Given the description of an element on the screen output the (x, y) to click on. 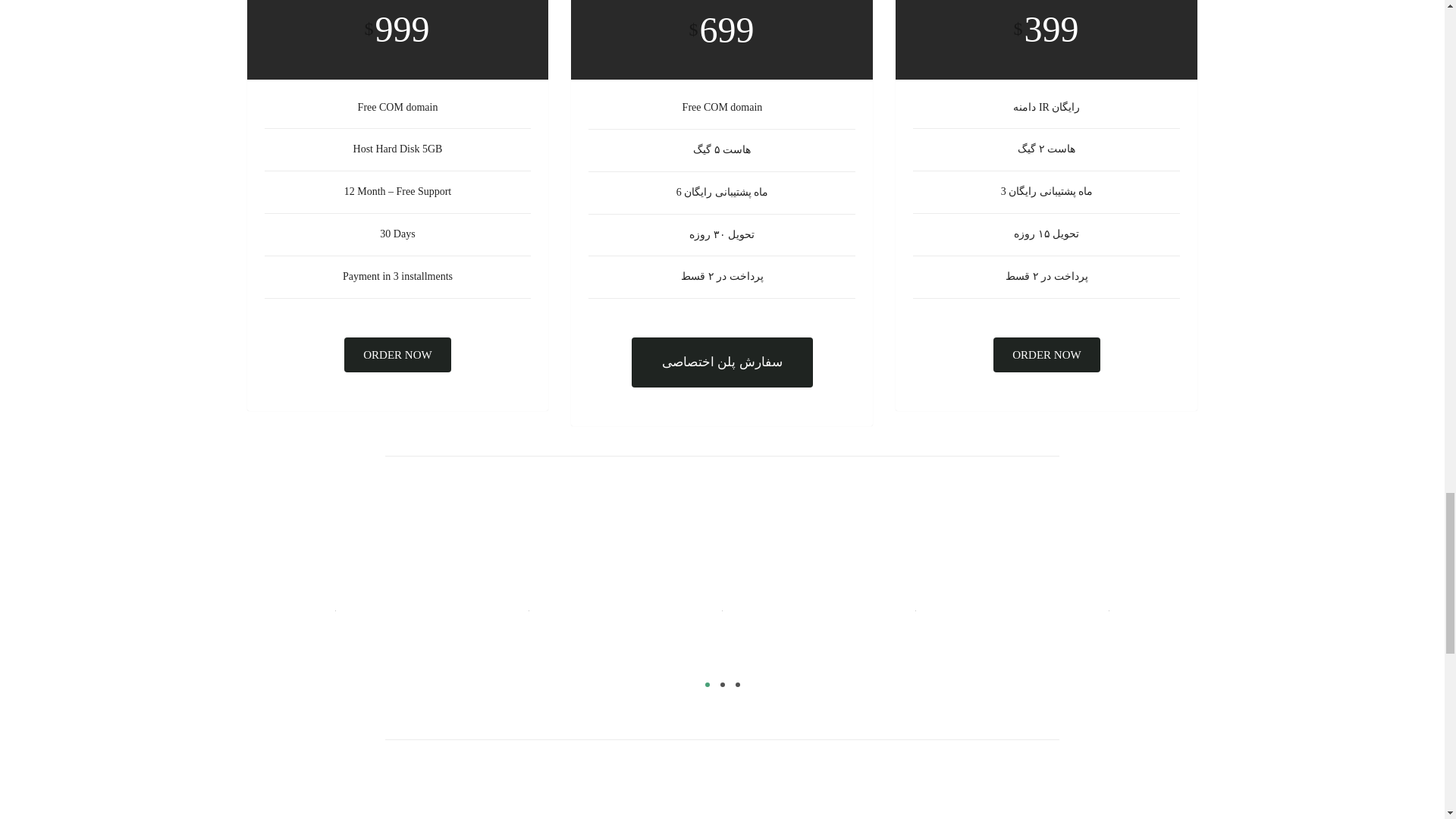
ORDER NOW (396, 355)
ORDER NOW (1045, 355)
